Given the description of an element on the screen output the (x, y) to click on. 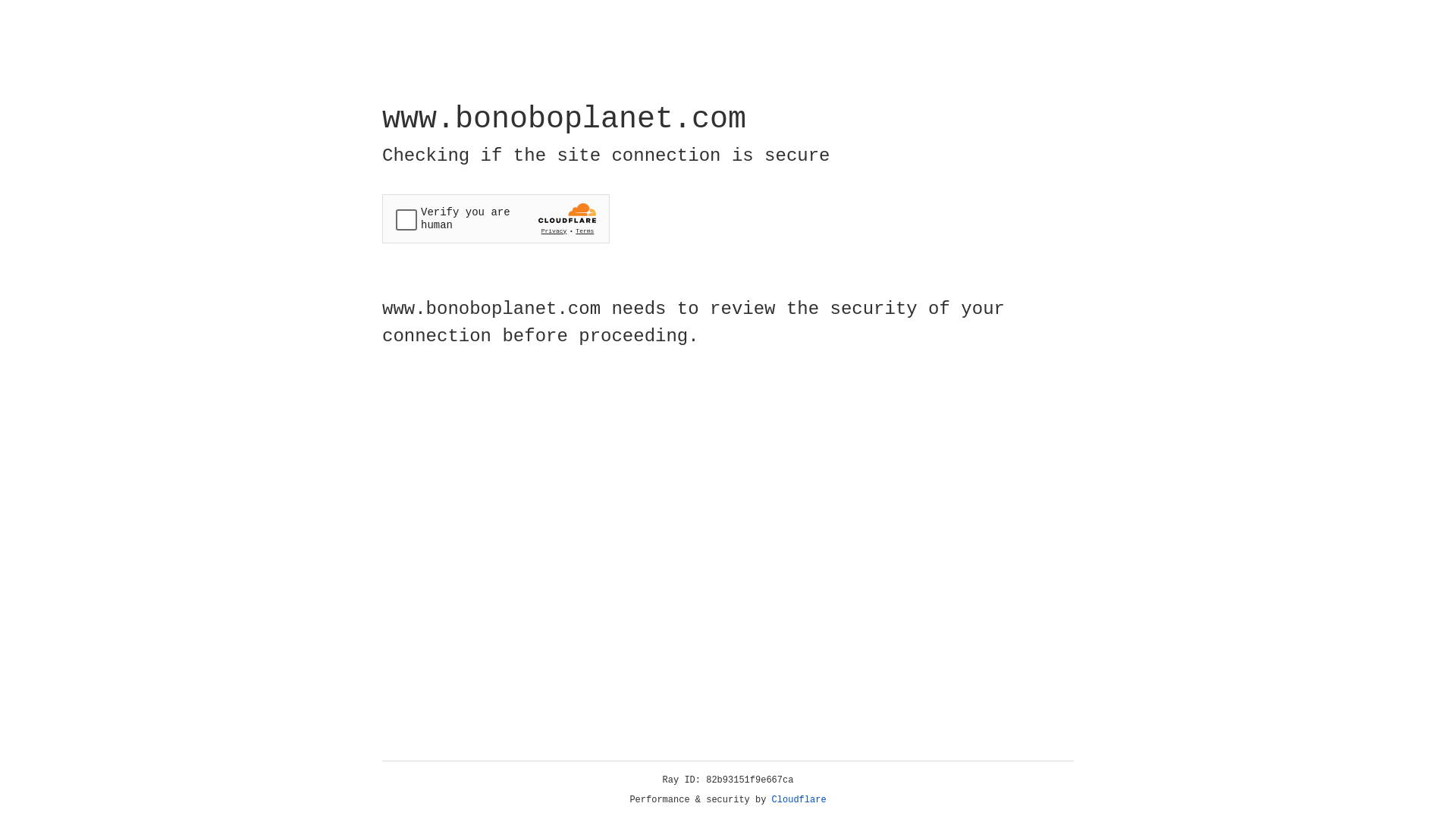
Widget containing a Cloudflare security challenge Element type: hover (495, 218)
Cloudflare Element type: text (798, 799)
